Given the description of an element on the screen output the (x, y) to click on. 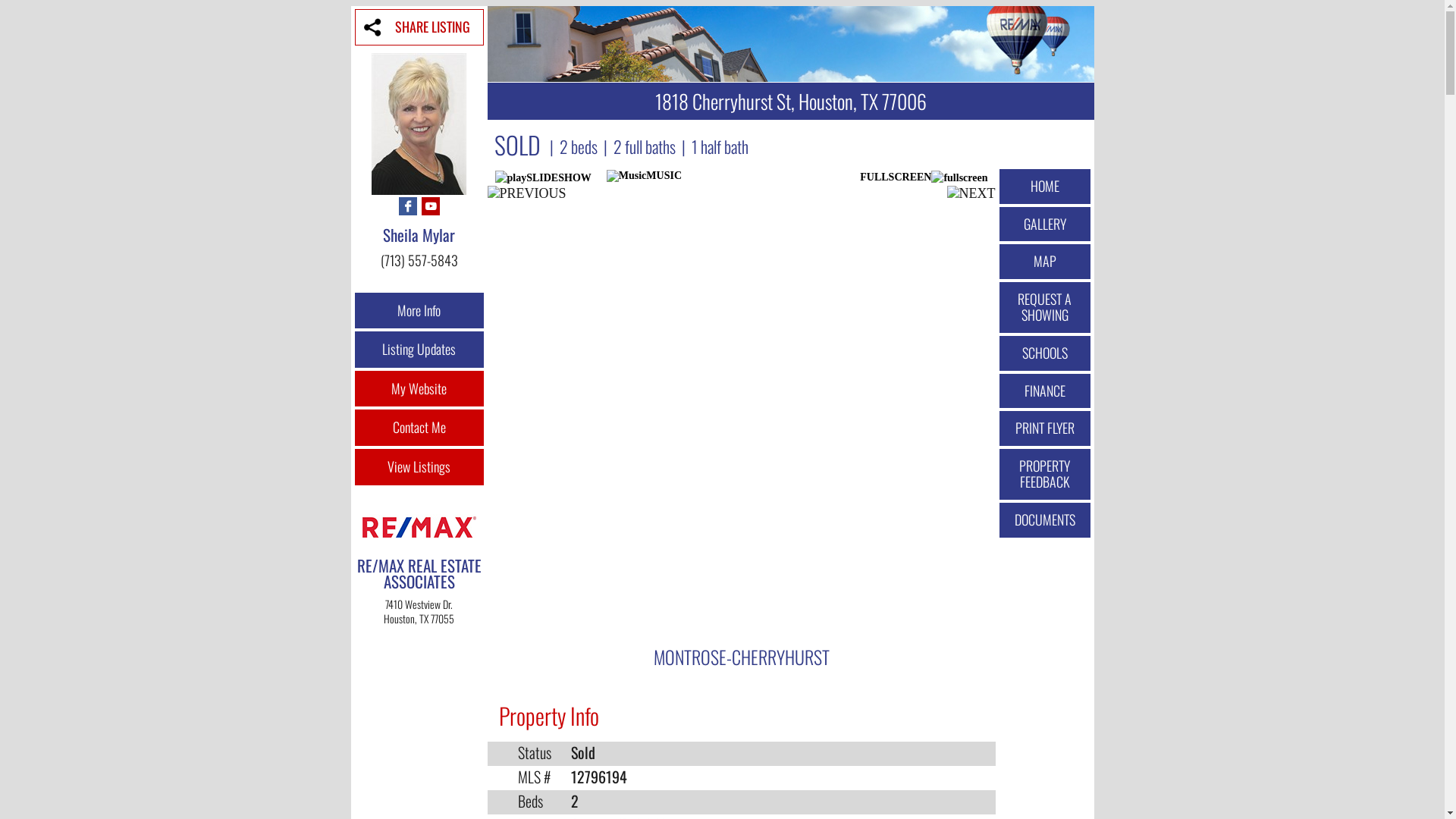
More Info Element type: text (418, 310)
PROPERTY FEEDBACK Element type: text (1044, 473)
GALLERY Element type: text (1044, 224)
SCHOOLS Element type: text (1044, 352)
PRINT FLYER Element type: text (1044, 428)
Contact Me Element type: text (418, 427)
FINANCE Element type: text (1044, 390)
Listing Updates Element type: text (418, 349)
MAP Element type: text (1044, 261)
My Website Element type: text (418, 388)
SHARE LISTING Element type: text (418, 27)
HOME Element type: text (1044, 186)
View Listings Element type: text (418, 466)
Sheila Mylar Element type: text (418, 234)
DOCUMENTS Element type: text (1044, 519)
REQUEST A SHOWING Element type: text (1044, 307)
